Given the description of an element on the screen output the (x, y) to click on. 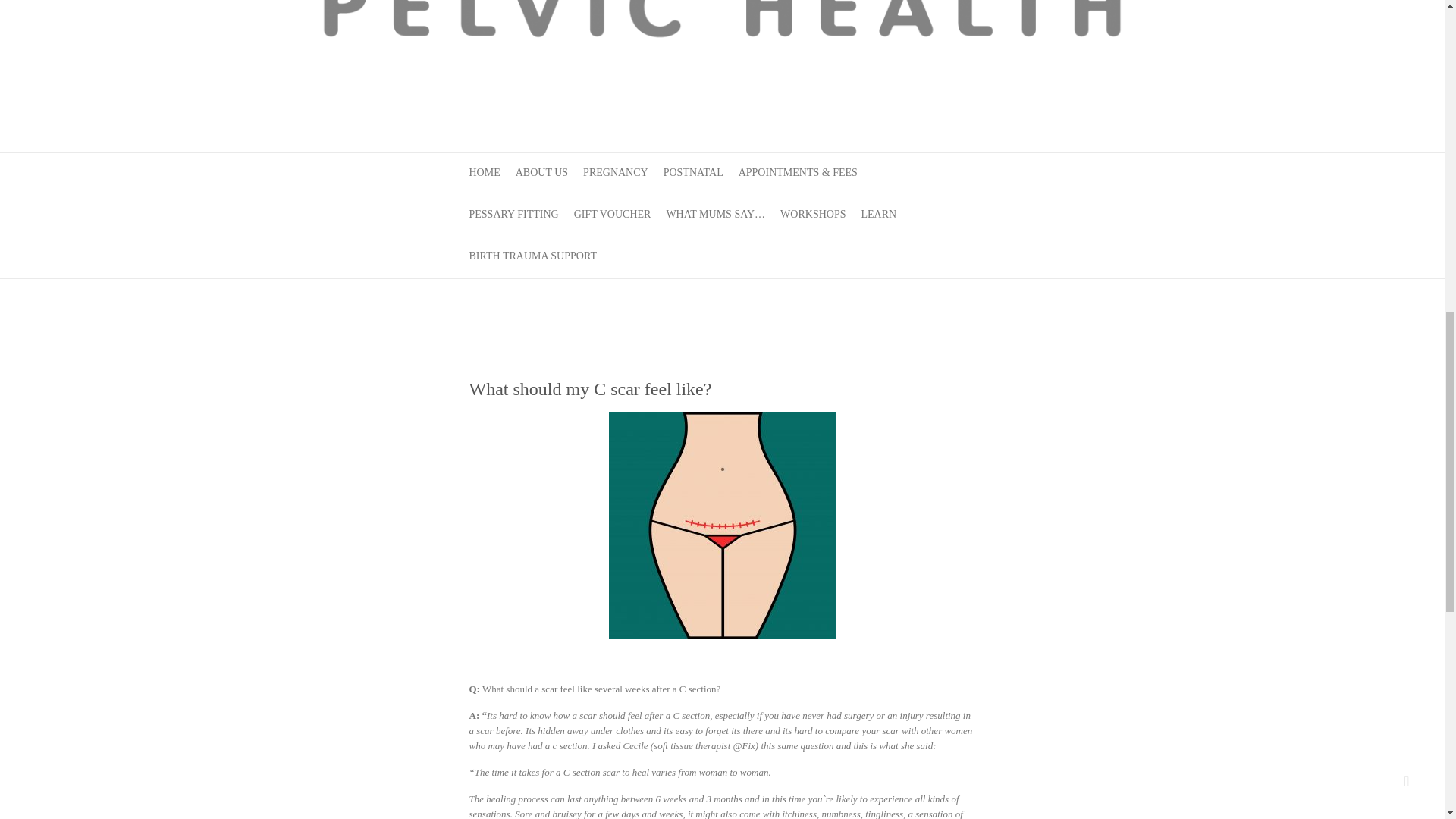
PESSARY FITTING (512, 215)
BIRTH TRAUMA SUPPORT (531, 257)
WORKSHOPS (812, 215)
ABOUT US (541, 173)
GIFT VOUCHER (611, 215)
POSTNATAL (693, 173)
PREGNANCY (615, 173)
